Given the description of an element on the screen output the (x, y) to click on. 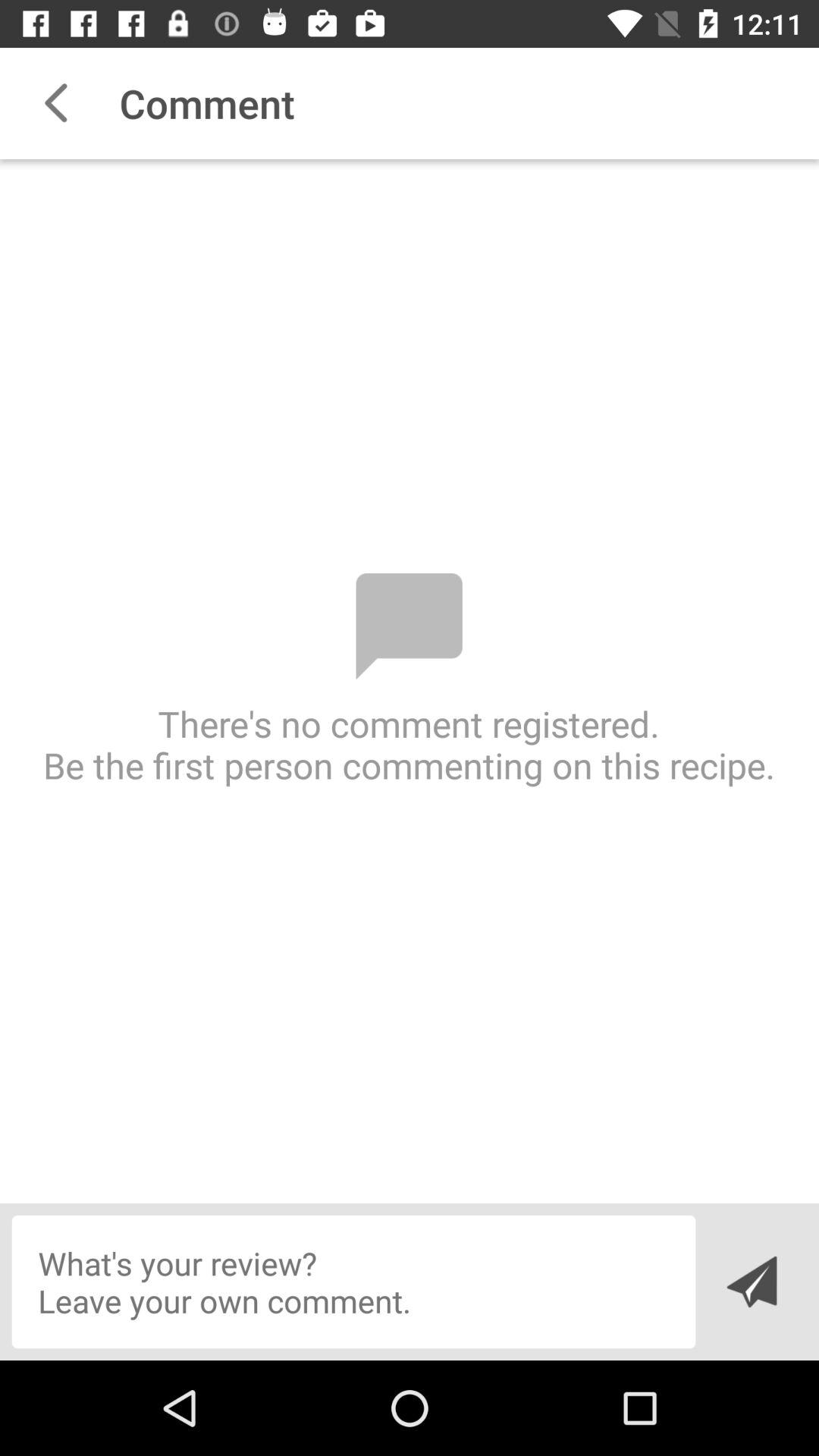
choose icon at the bottom right corner (751, 1281)
